Given the description of an element on the screen output the (x, y) to click on. 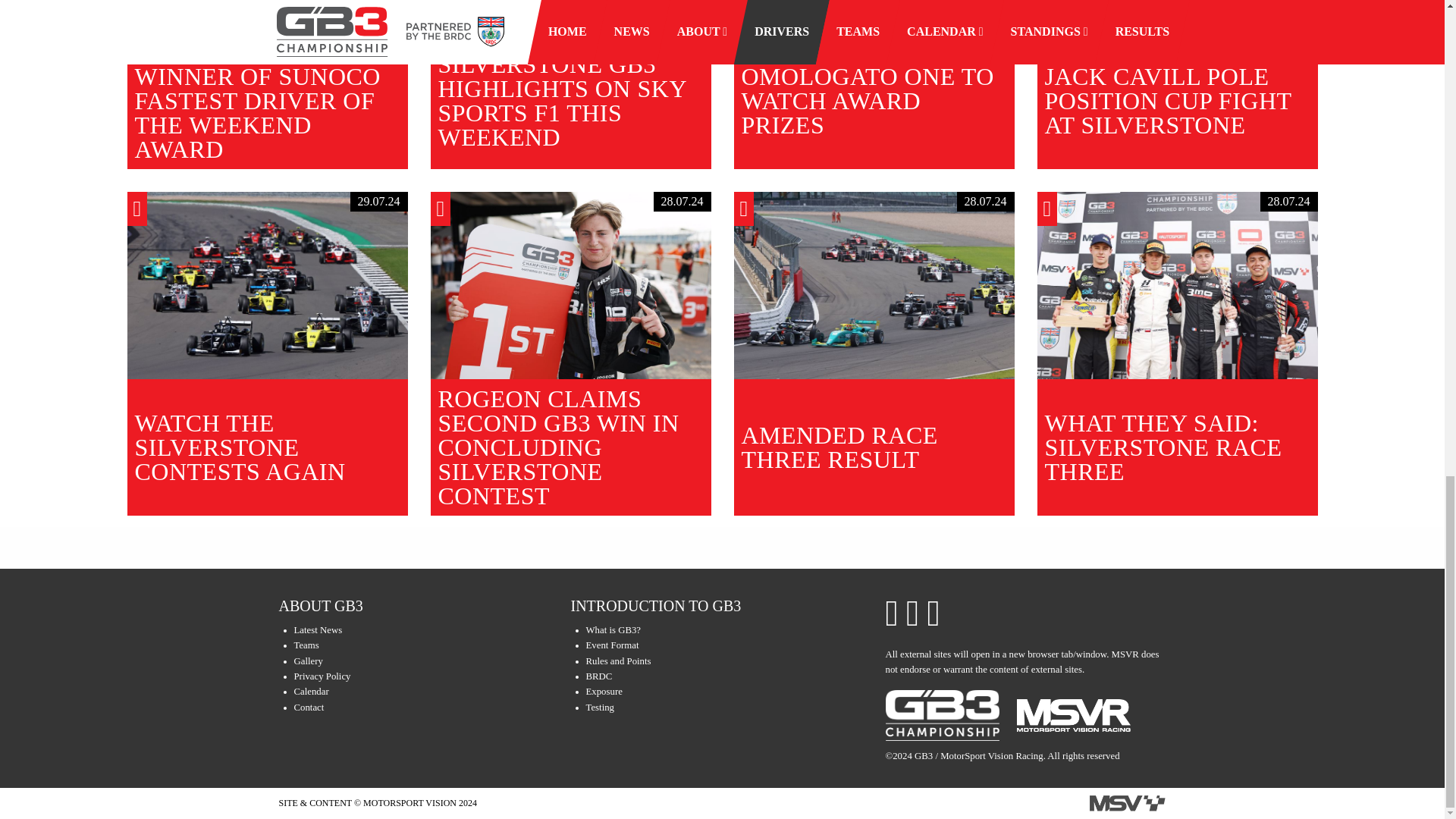
Amended race three result (873, 285)
What they said: Silverstone race three (1176, 285)
GB3 (941, 716)
Watch the Silverstone contests again (267, 285)
GB3 aces receive Omologato One to Watch Award prizes (873, 4)
